Given the description of an element on the screen output the (x, y) to click on. 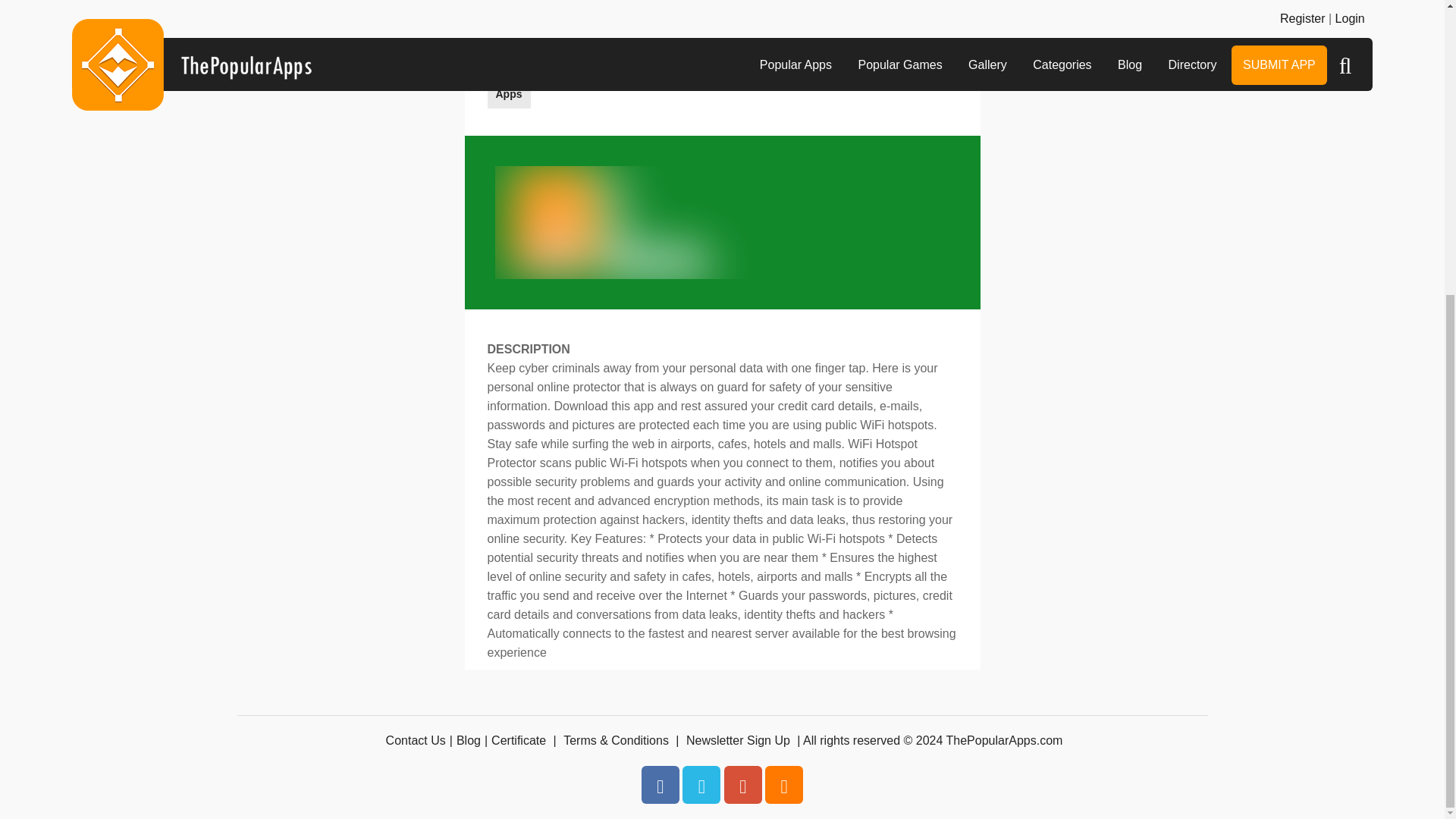
Run (740, 60)
Pinterest (742, 784)
Business (559, 60)
Blog (468, 739)
Contact Us (415, 739)
Facebook (660, 784)
Newsletter Sign Up (737, 739)
Apps (507, 93)
Certificate (518, 739)
Rss (784, 784)
Tracking (861, 60)
iOS (503, 60)
Toddlers (795, 60)
Productivity (635, 60)
Twitter (701, 784)
